Given the description of an element on the screen output the (x, y) to click on. 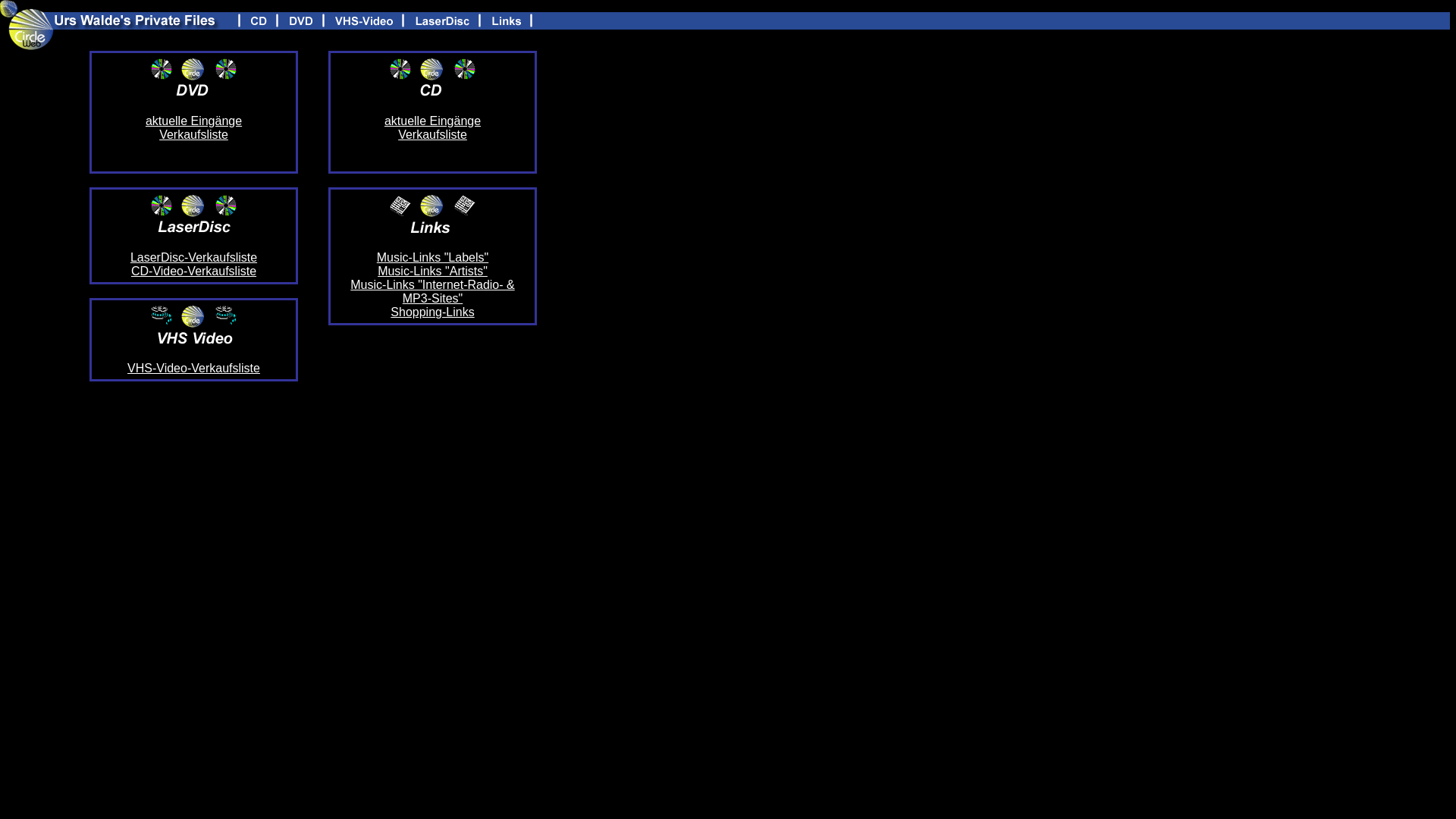
Shopping-Links Element type: text (431, 311)
Music-Links "Artists" Element type: text (432, 270)
LaserDisc-Verkaufsliste Element type: text (193, 257)
VHS-Video-Verkaufsliste Element type: text (193, 367)
CD-Video-Verkaufsliste Element type: text (193, 270)
Music-Links "Labels" Element type: text (432, 257)
Verkaufsliste Element type: text (432, 134)
Verkaufsliste Element type: text (193, 134)
Music-Links "Internet-Radio- & MP3-Sites" Element type: text (432, 291)
